Given the description of an element on the screen output the (x, y) to click on. 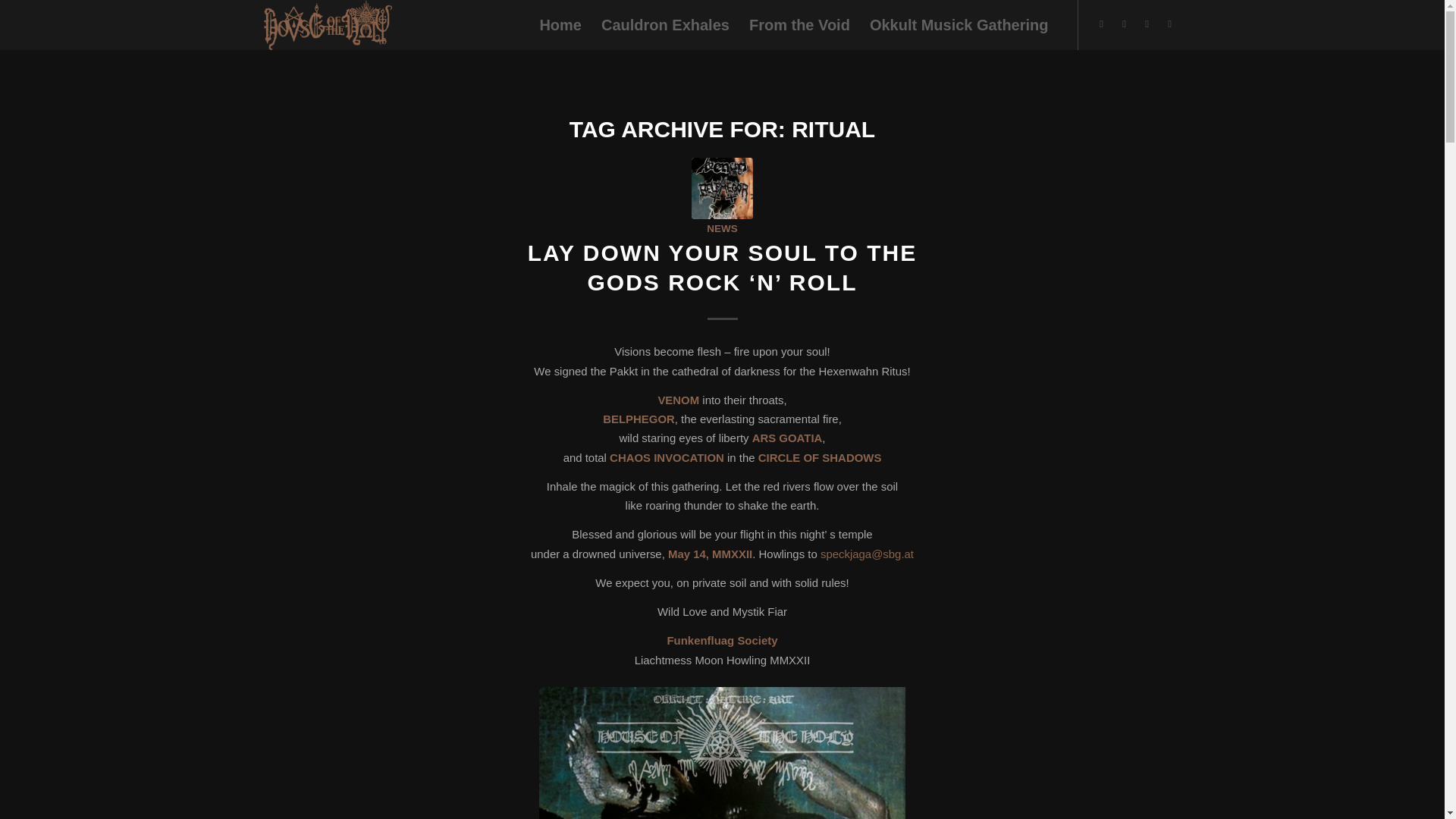
Home (560, 24)
Rss (1169, 24)
NEWS (721, 228)
Okkult Musick Gathering (959, 24)
Cauldron Exhales (665, 24)
From the Void (799, 24)
Facebook (1101, 24)
Youtube (1146, 24)
Instagram (1124, 24)
